Given the description of an element on the screen output the (x, y) to click on. 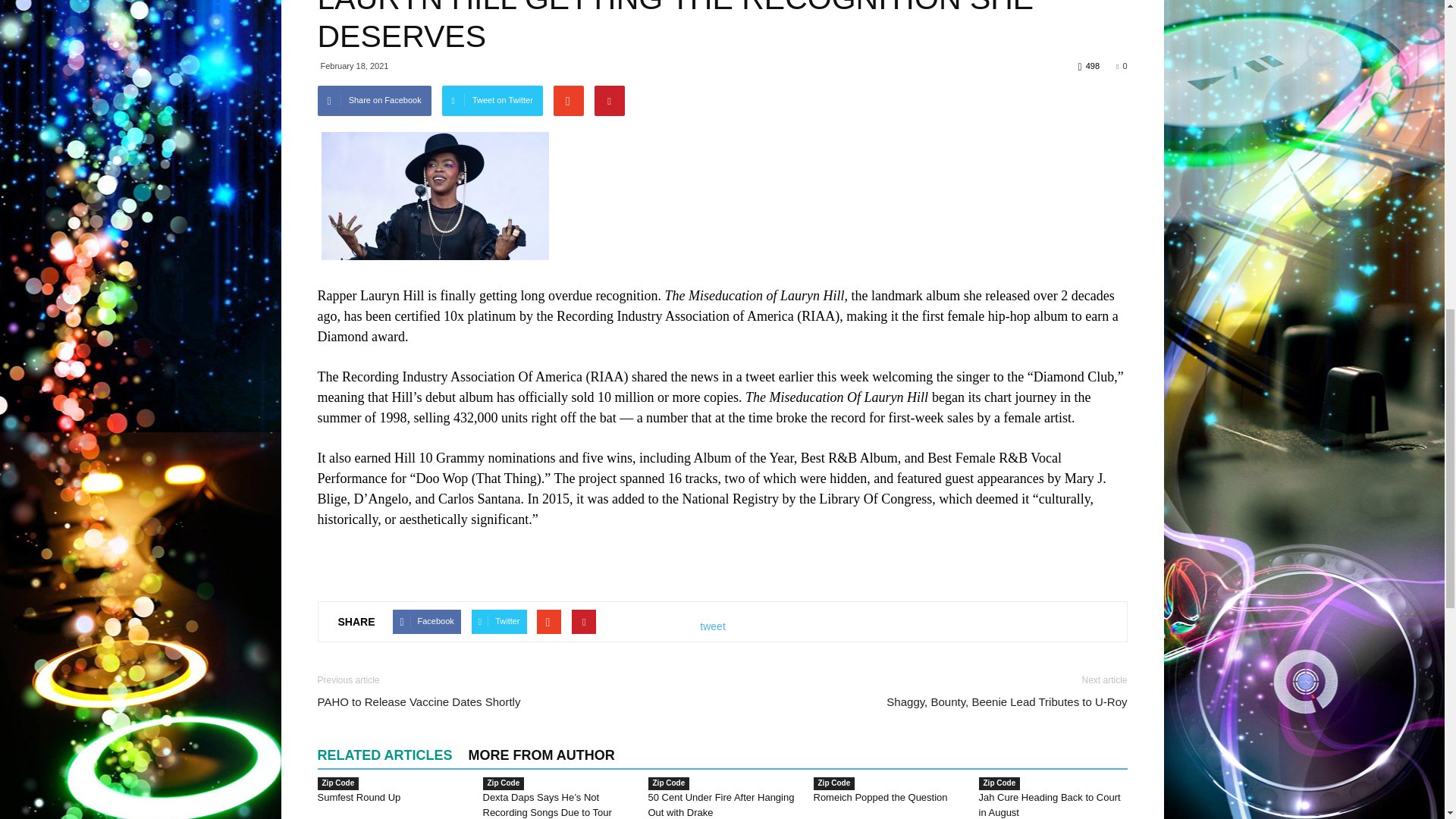
0 (1121, 65)
Tweet on Twitter (492, 100)
Share on Facebook (373, 100)
Sumfest Round Up (358, 797)
50 Cent Under Fire After Hanging Out with Drake (720, 804)
Romeich Popped the Question (879, 797)
